Given the description of an element on the screen output the (x, y) to click on. 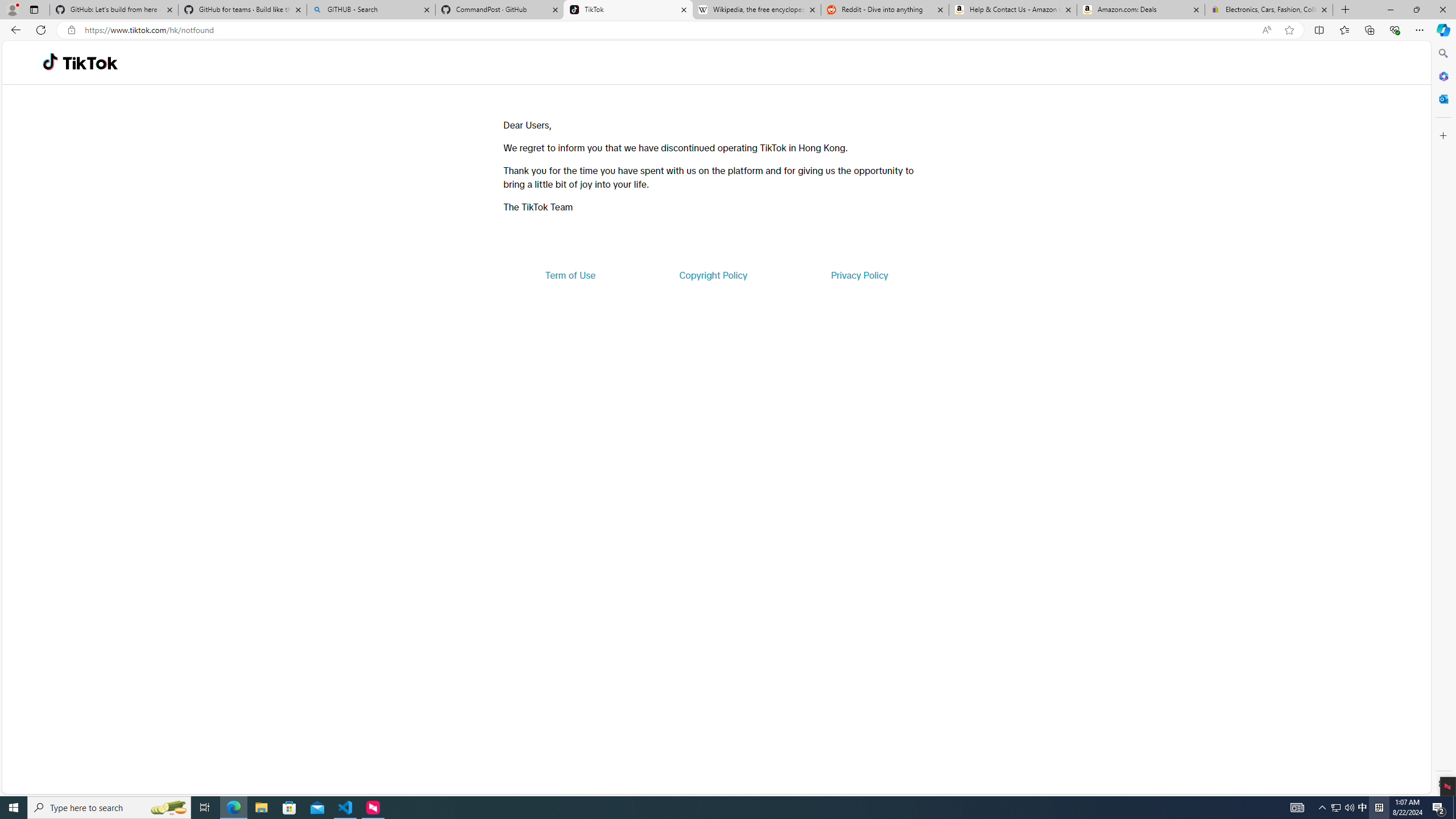
Read aloud this page (Ctrl+Shift+U) (1266, 29)
Privacy Policy (858, 274)
Favorites (1344, 29)
Close Outlook pane (1442, 98)
TikTok (89, 62)
Address and search bar (669, 29)
